Given the description of an element on the screen output the (x, y) to click on. 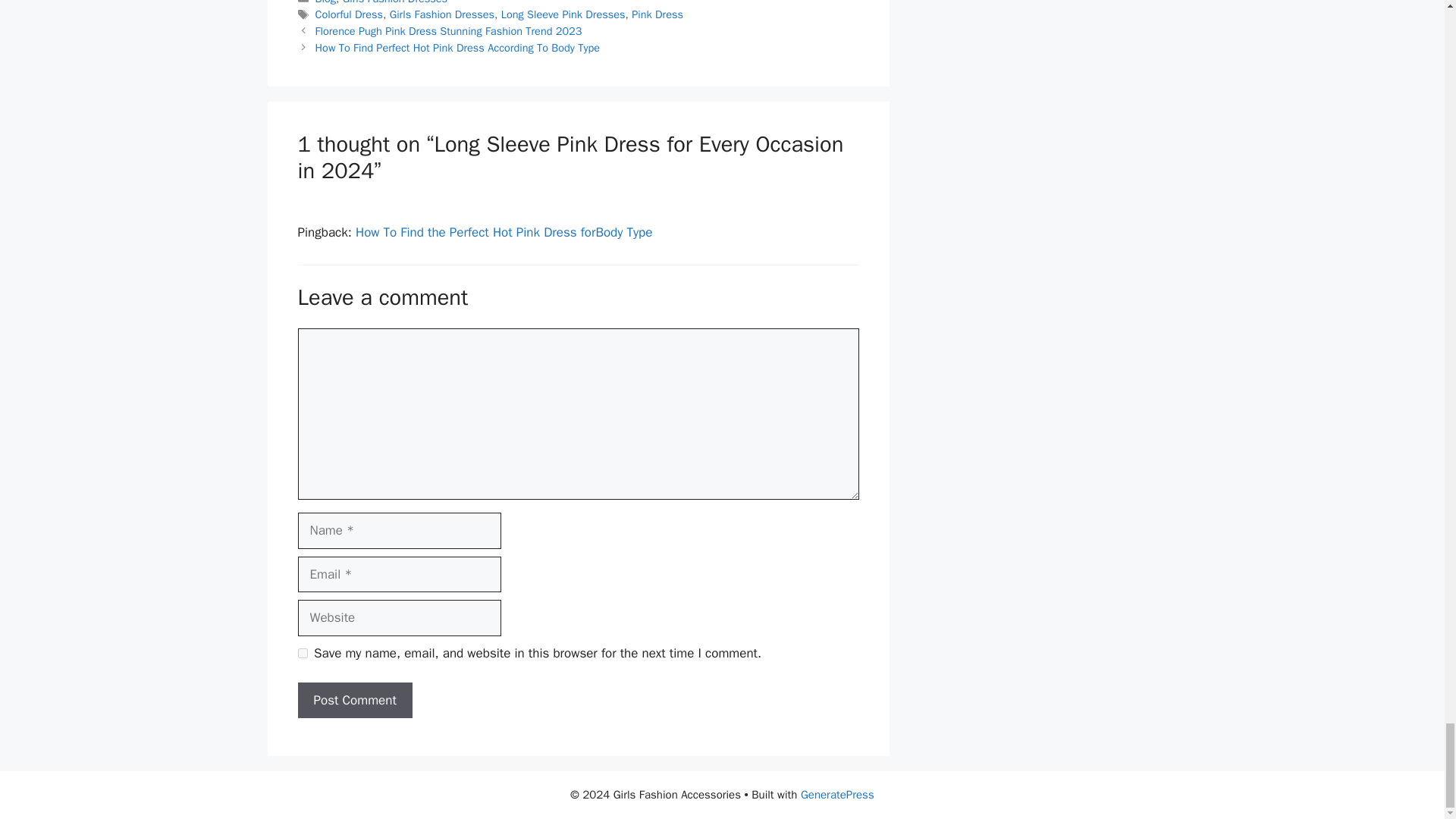
Colorful Dress (348, 14)
Post Comment (354, 700)
Girls Fashion Dresses (442, 14)
Pink Dress (656, 14)
yes (302, 653)
Long Sleeve Pink Dresses (563, 14)
How To Find Perfect Hot Pink Dress According To Body Type (457, 47)
Florence Pugh Pink Dress Stunning Fashion Trend 2023 (448, 30)
Blog (325, 2)
Girls Fashion Dresses (394, 2)
